Given the description of an element on the screen output the (x, y) to click on. 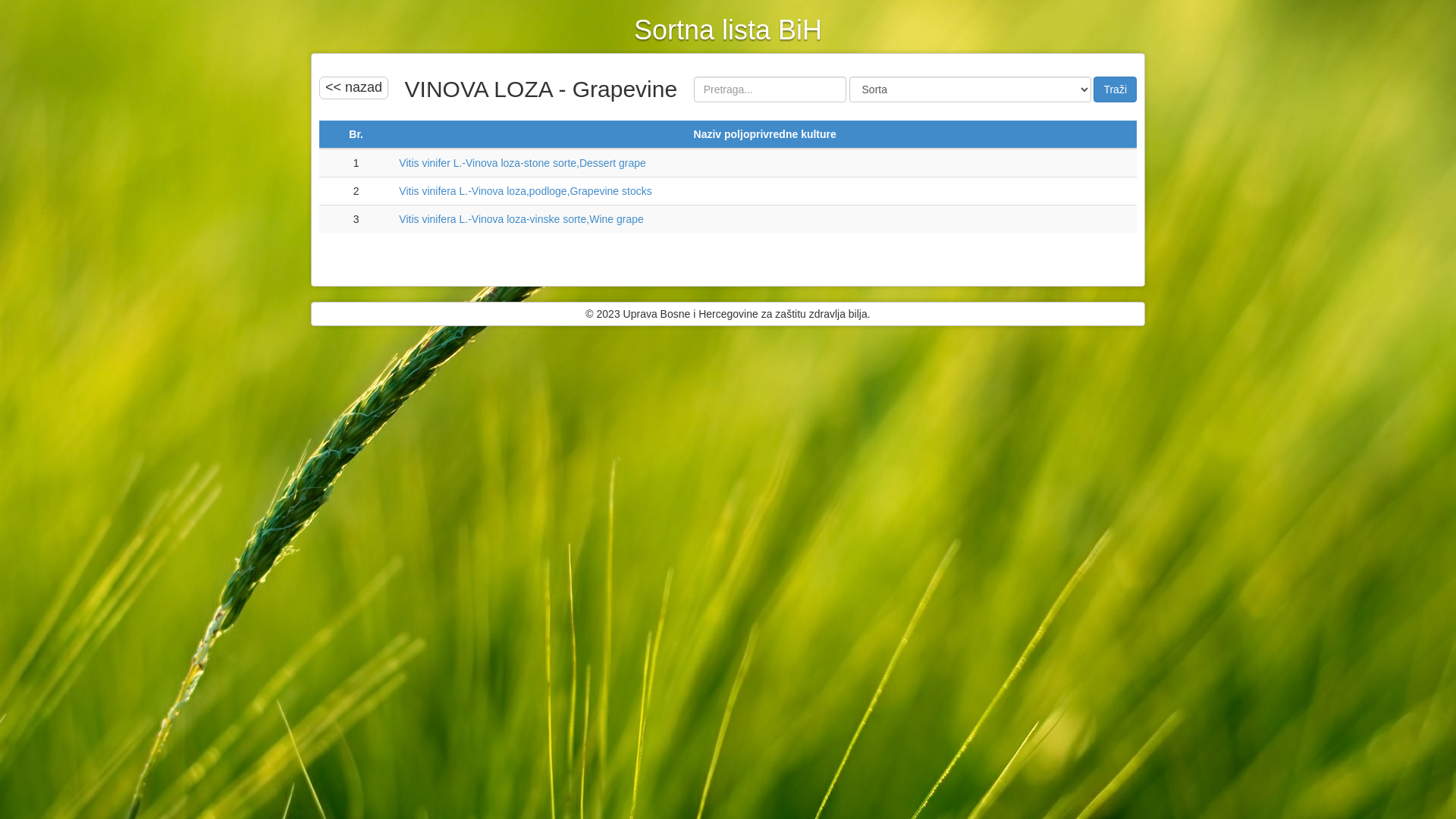
Vitis vinifer L.-Vinova loza-stone sorte,Dessert grape Element type: text (522, 162)
Vitis vinifera L.-Vinova loza-vinske sorte,Wine grape Element type: text (520, 219)
Vitis vinifera L.-Vinova loza,podloge,Grapevine stocks Element type: text (524, 191)
<< nazad Element type: text (353, 87)
